Given the description of an element on the screen output the (x, y) to click on. 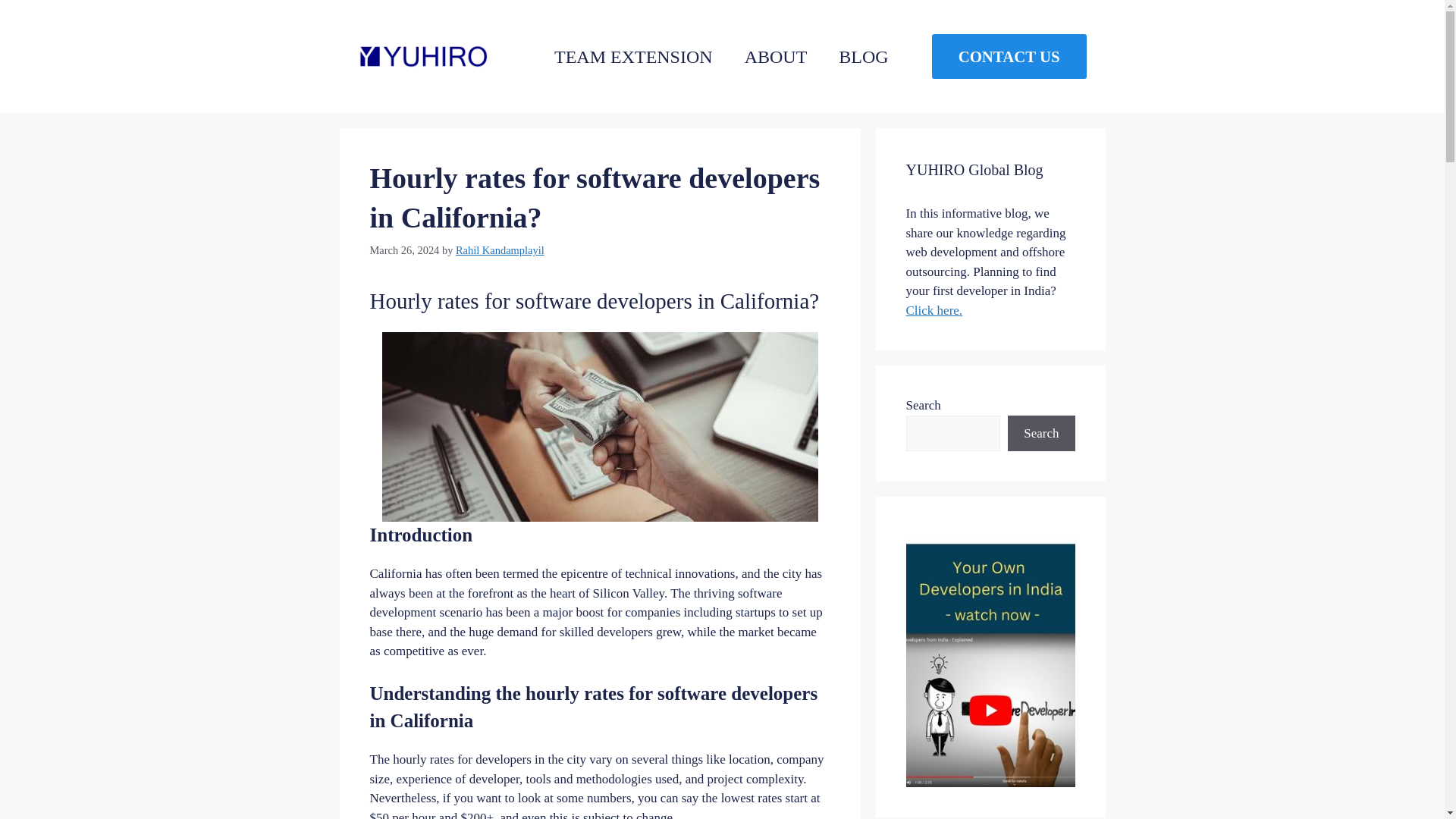
View all posts by Rahil Kandamplayil (499, 250)
Click here. (933, 310)
CONTACT US (1008, 56)
BLOG (863, 56)
TEAM EXTENSION (633, 56)
Rahil Kandamplayil (499, 250)
Search (1040, 433)
ABOUT (775, 56)
